Given the description of an element on the screen output the (x, y) to click on. 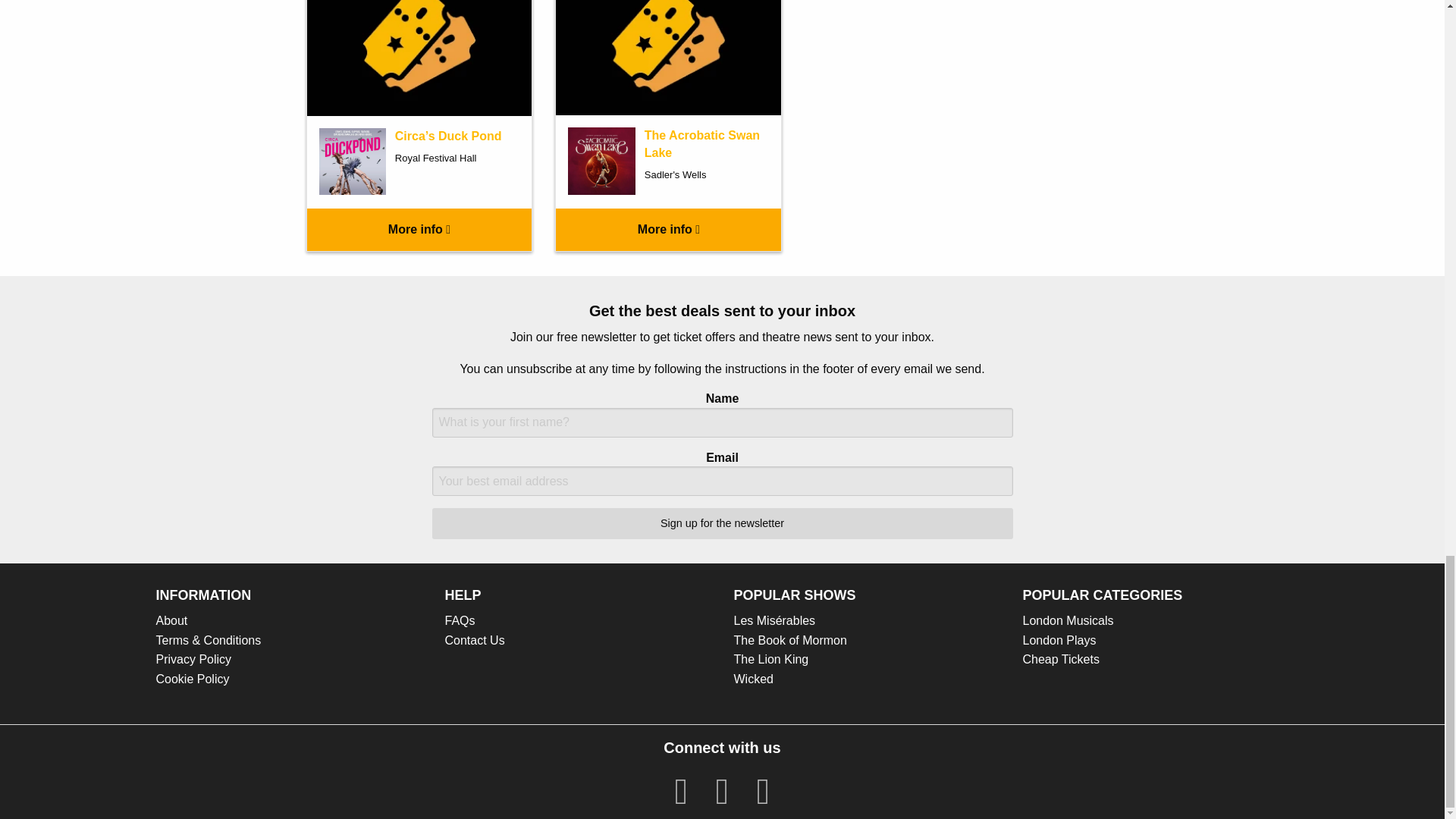
The Acrobatic Swan Lake (702, 143)
More info  (668, 229)
More info  (418, 229)
